Given the description of an element on the screen output the (x, y) to click on. 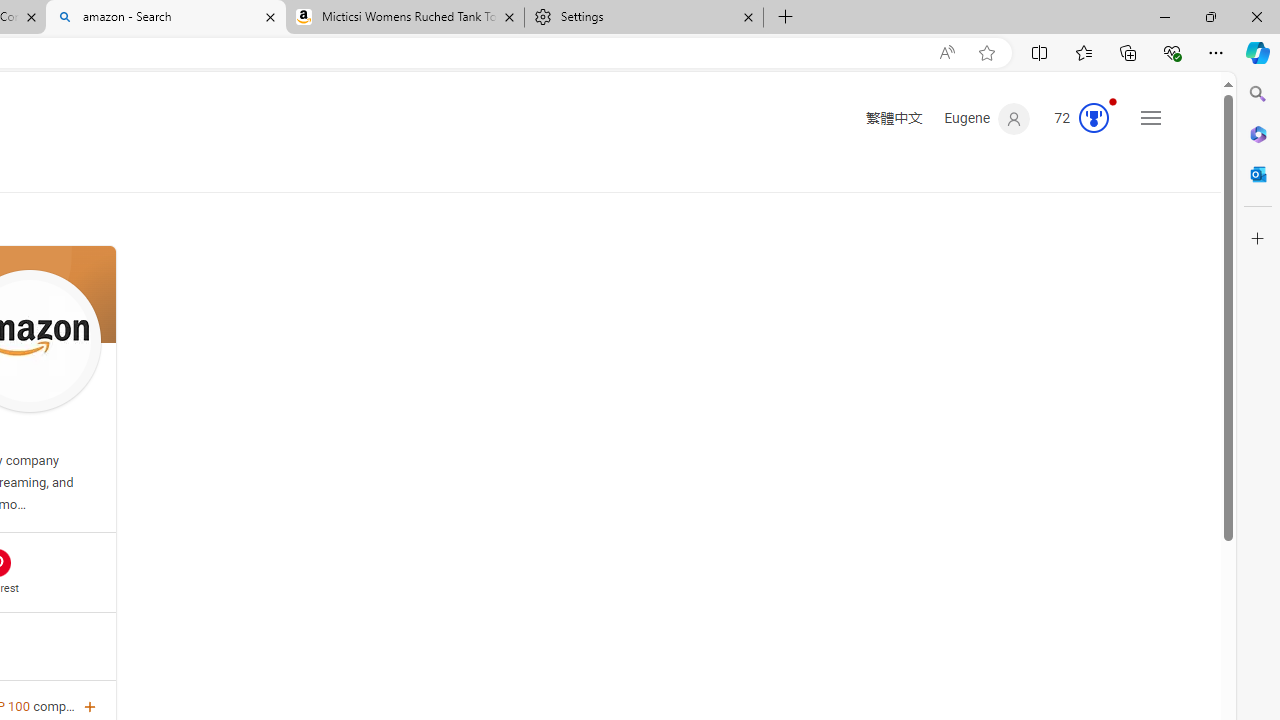
amazon - Search (166, 17)
AutomationID: serp_medal_svg (1093, 117)
Animation (1112, 101)
AutomationID: rh_meter (1093, 117)
